Given the description of an element on the screen output the (x, y) to click on. 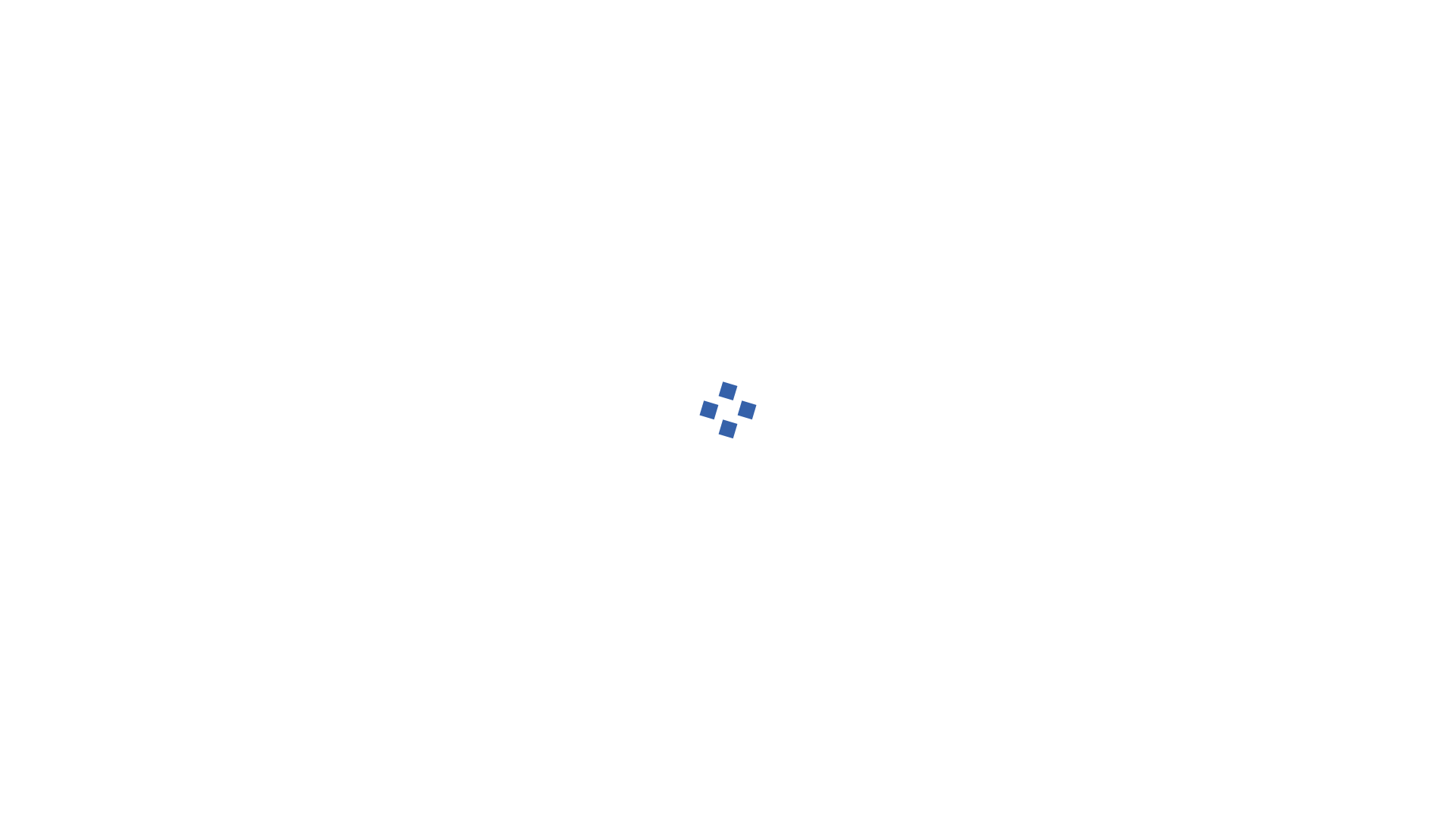
NAUTICA AT NCYC Element type: text (702, 97)
Website by HyperWeb Element type: hover (907, 778)
NEWS Element type: text (961, 97)
SAILING Element type: text (520, 97)
ACADEMY Element type: text (596, 97)
MARINA Element type: text (897, 97)
OUR CLUB Element type: text (338, 97)
MEMBERSHIP Element type: text (433, 97)
info@ncyc.net.au Element type: text (842, 37)
FUNCTIONS Element type: text (815, 97)
CAREERS Element type: text (1029, 97)
